Given the description of an element on the screen output the (x, y) to click on. 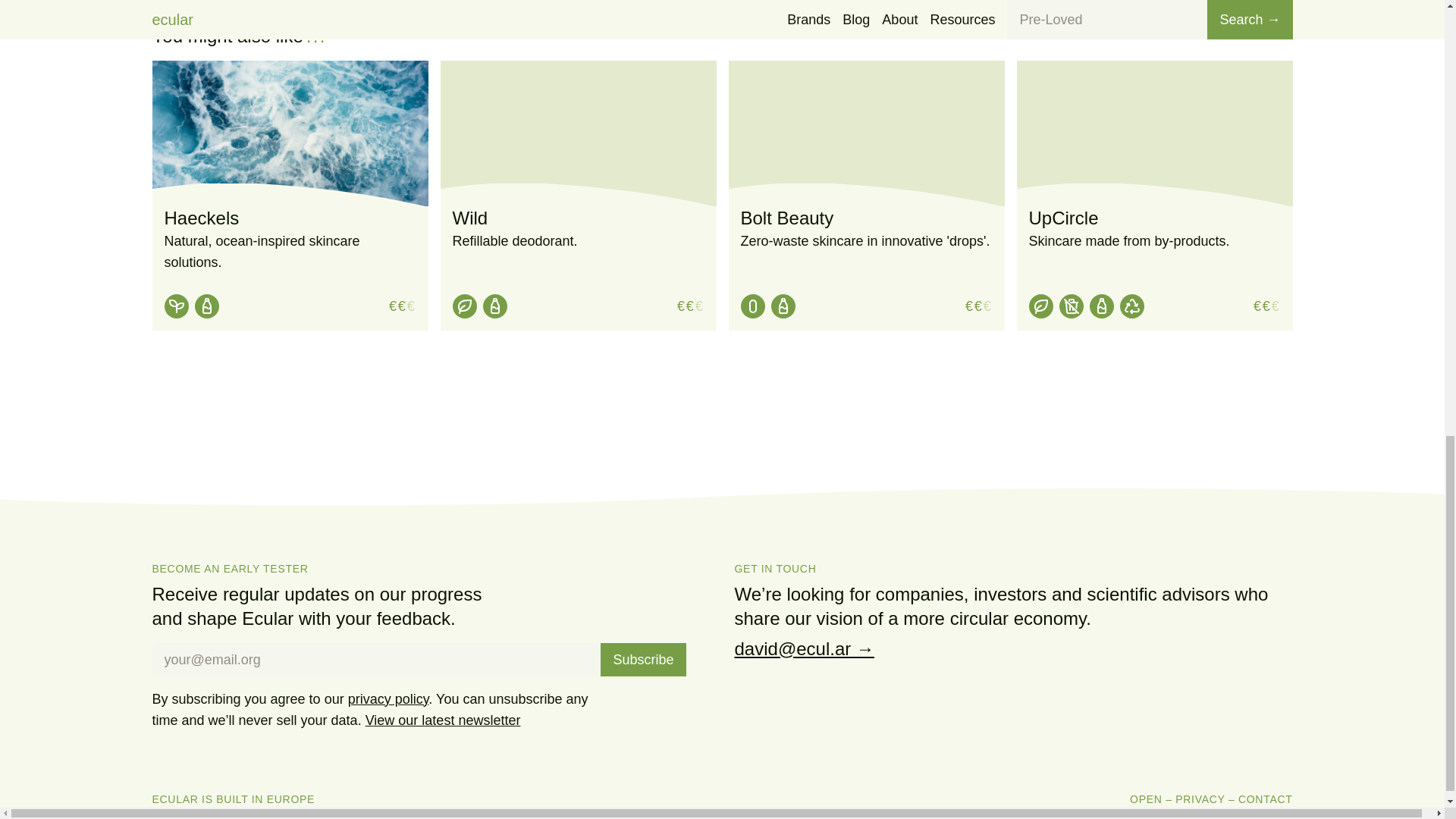
privacy policy (388, 698)
OPEN (1145, 799)
CONTACT (1265, 799)
Subscribe (642, 659)
PRIVACY (1199, 799)
View our latest newsletter (443, 720)
Subscribe (642, 659)
